Given the description of an element on the screen output the (x, y) to click on. 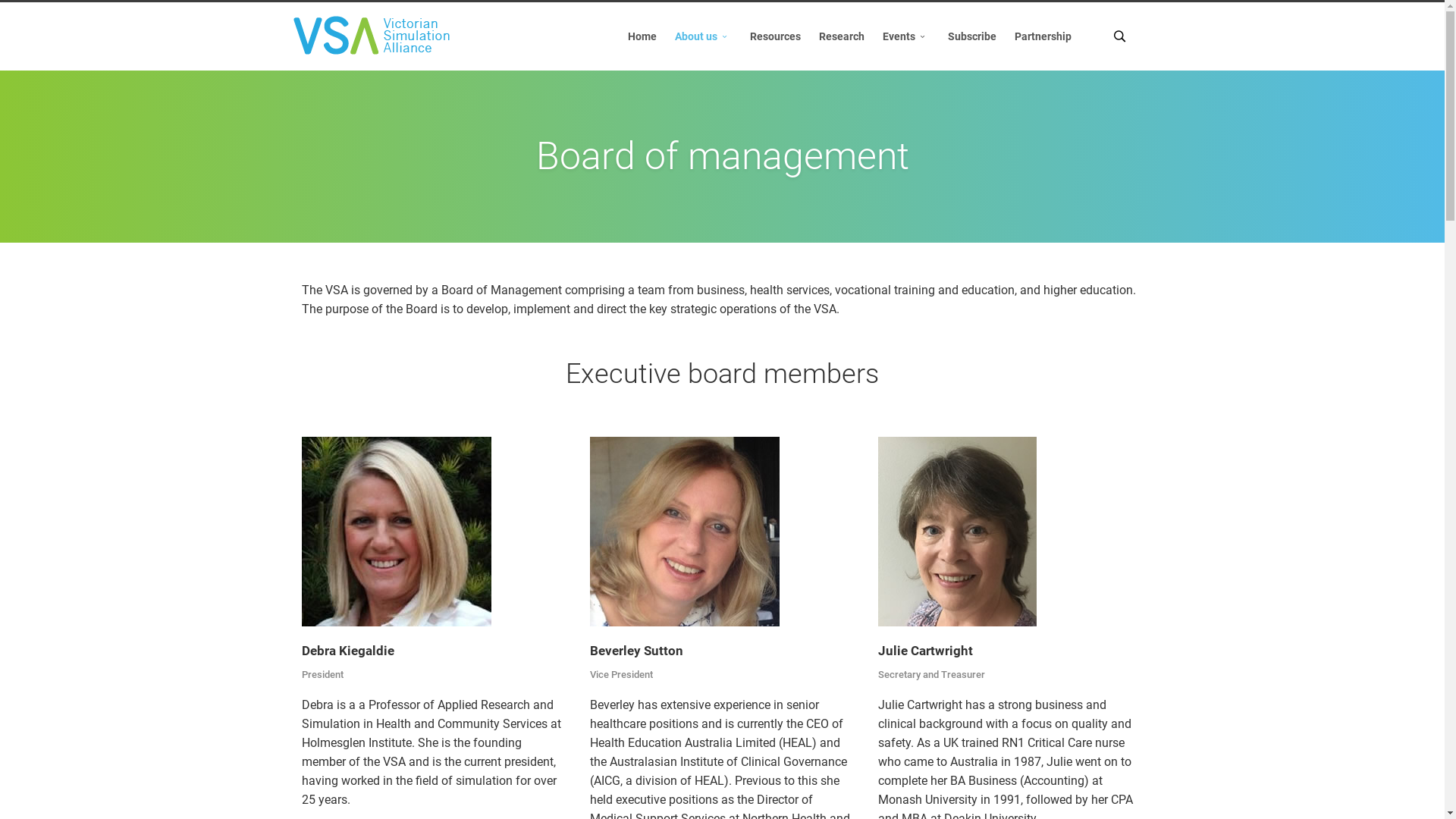
Partnership Element type: text (1042, 36)
Resources Element type: text (774, 36)
Subscribe Element type: text (971, 36)
Home Element type: text (641, 36)
Events Element type: text (905, 36)
Research Element type: text (841, 36)
About us Element type: text (702, 36)
